Given the description of an element on the screen output the (x, y) to click on. 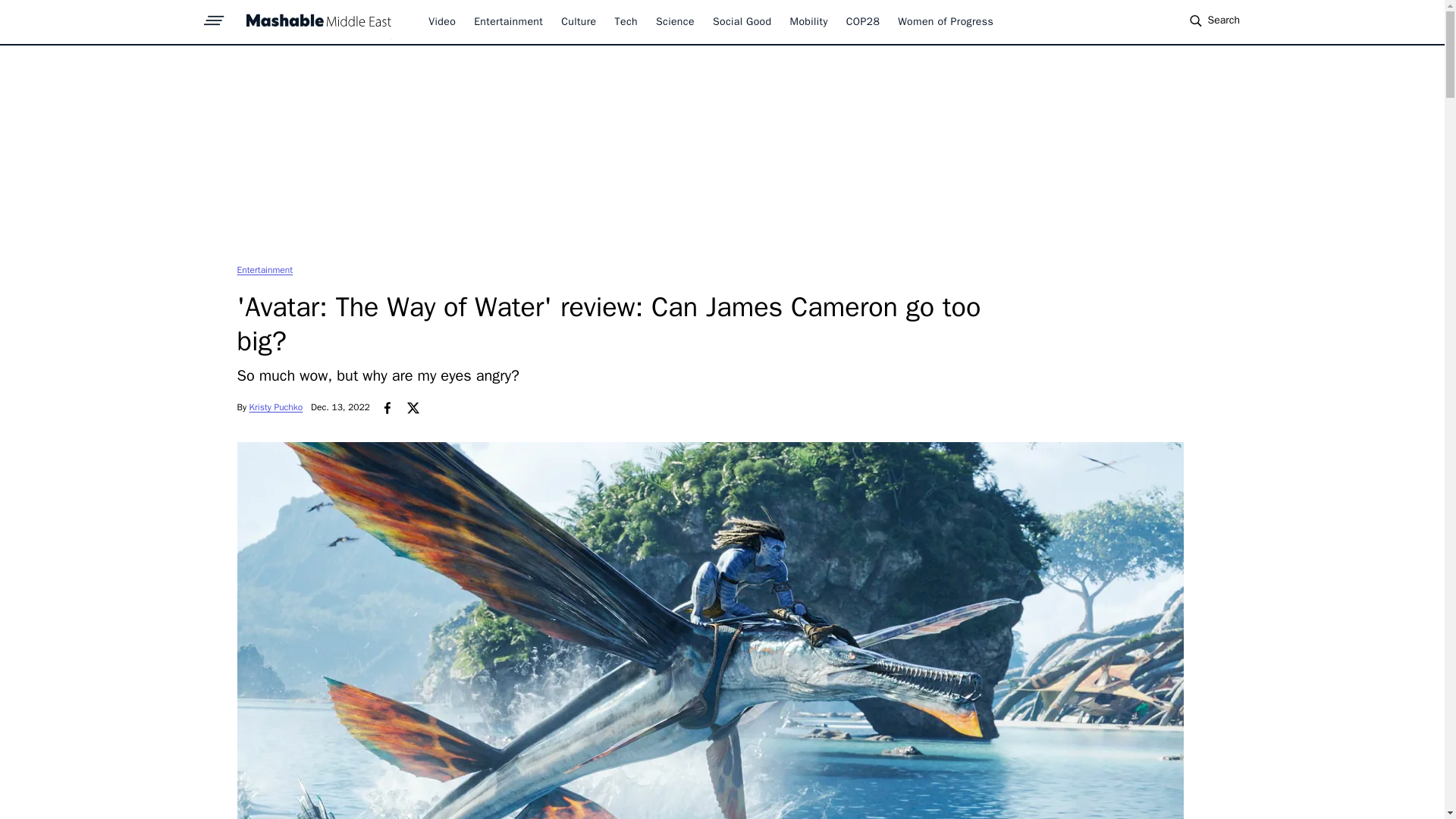
Entertainment (263, 269)
Entertainment (263, 269)
Women of Progress (945, 21)
Entertainment (508, 21)
Science (675, 21)
Tech (625, 21)
Mobility (809, 21)
Social Good (742, 21)
Video (441, 21)
sprite-hamburger (213, 16)
